Given the description of an element on the screen output the (x, y) to click on. 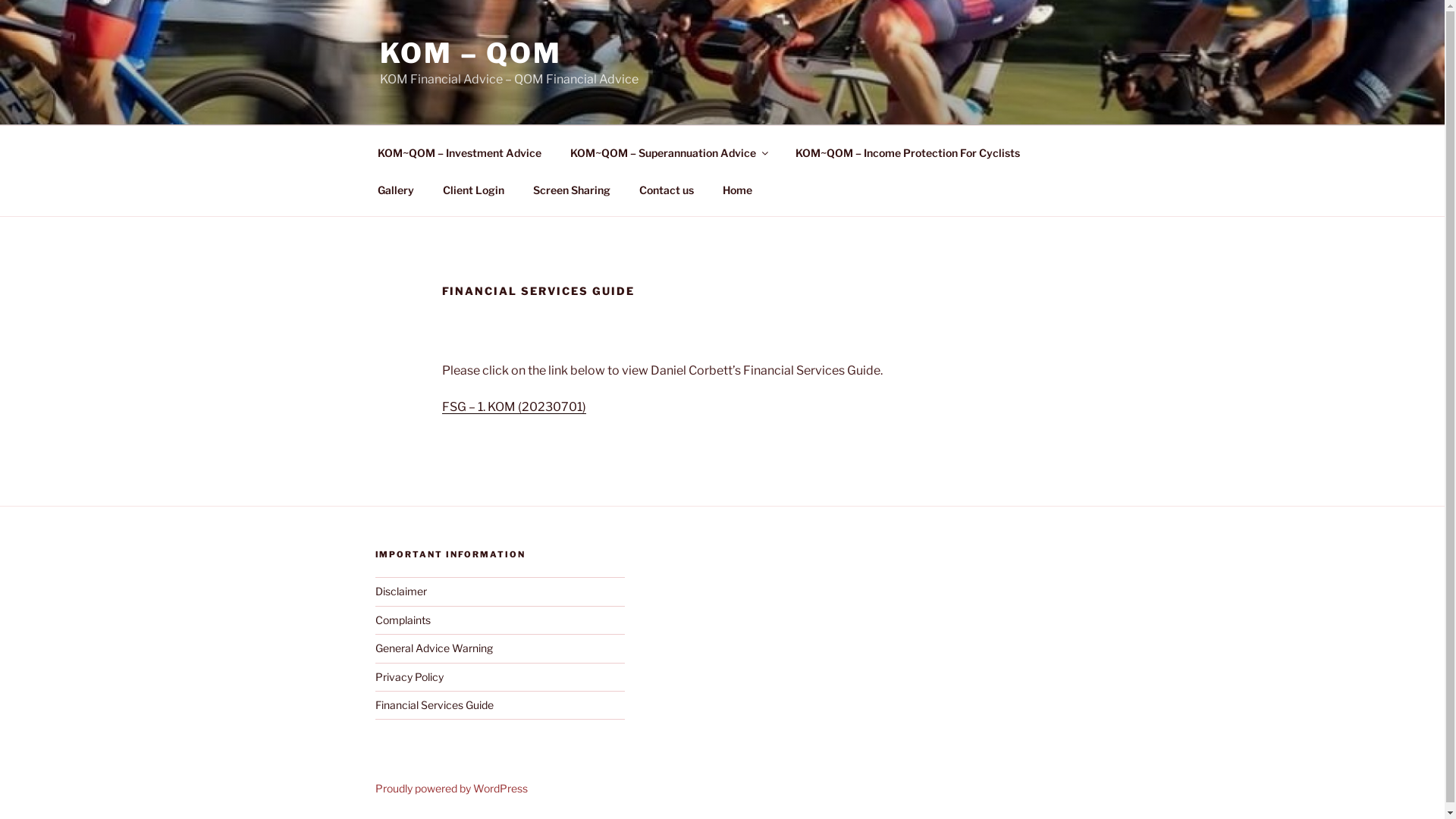
Financial Services Guide Element type: text (433, 704)
General Advice Warning Element type: text (433, 647)
Client Login Element type: text (473, 189)
Screen Sharing Element type: text (572, 189)
Proudly powered by WordPress Element type: text (450, 787)
Complaints Element type: text (401, 619)
Disclaimer Element type: text (400, 590)
Home Element type: text (737, 189)
Privacy Policy Element type: text (408, 676)
Gallery Element type: text (395, 189)
Contact us Element type: text (666, 189)
